Given the description of an element on the screen output the (x, y) to click on. 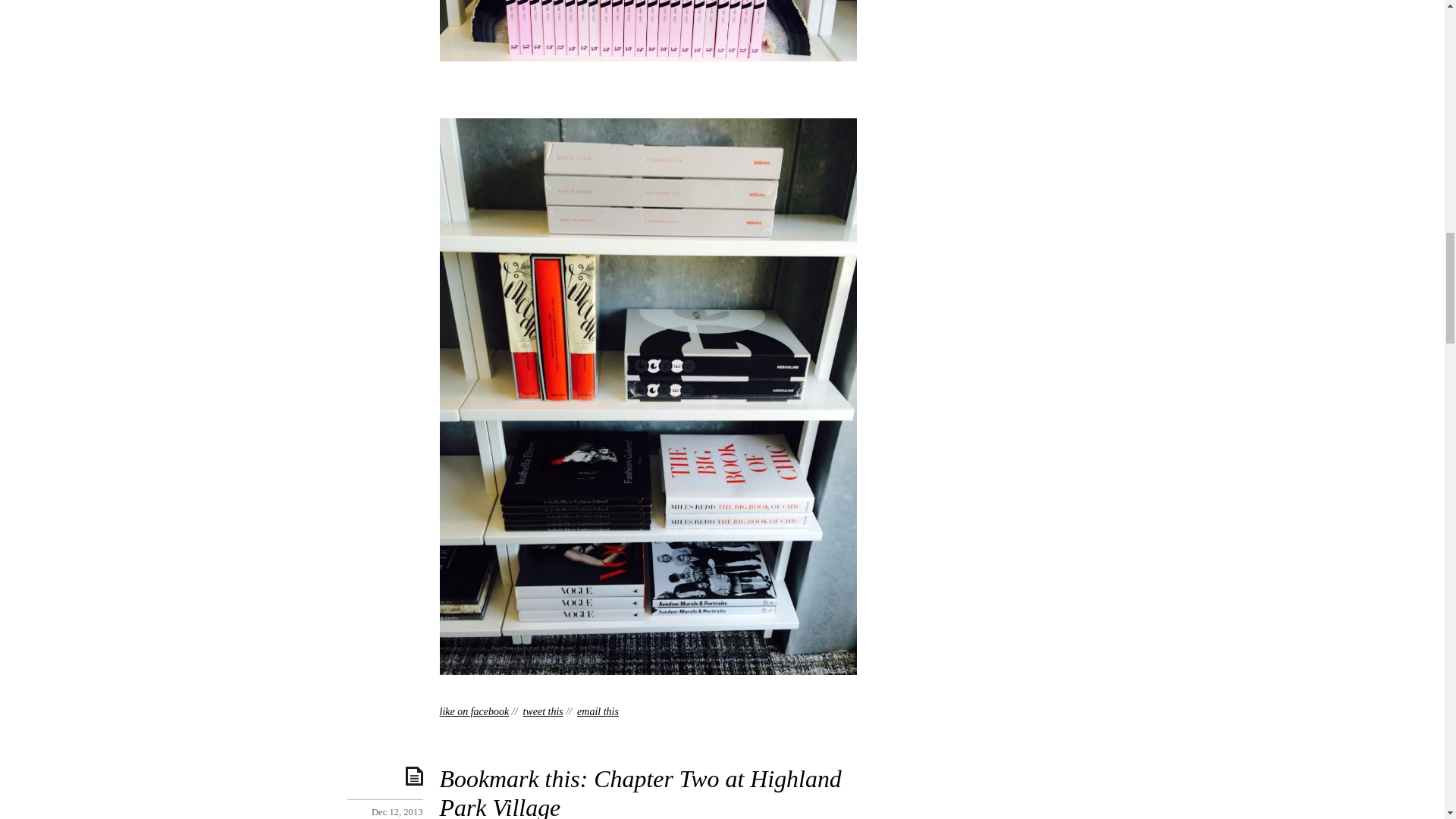
like on facebook (474, 711)
Bookmark this: Chapter Two at Highland Park Village (640, 792)
tweet this (542, 711)
email this (597, 711)
